Given the description of an element on the screen output the (x, y) to click on. 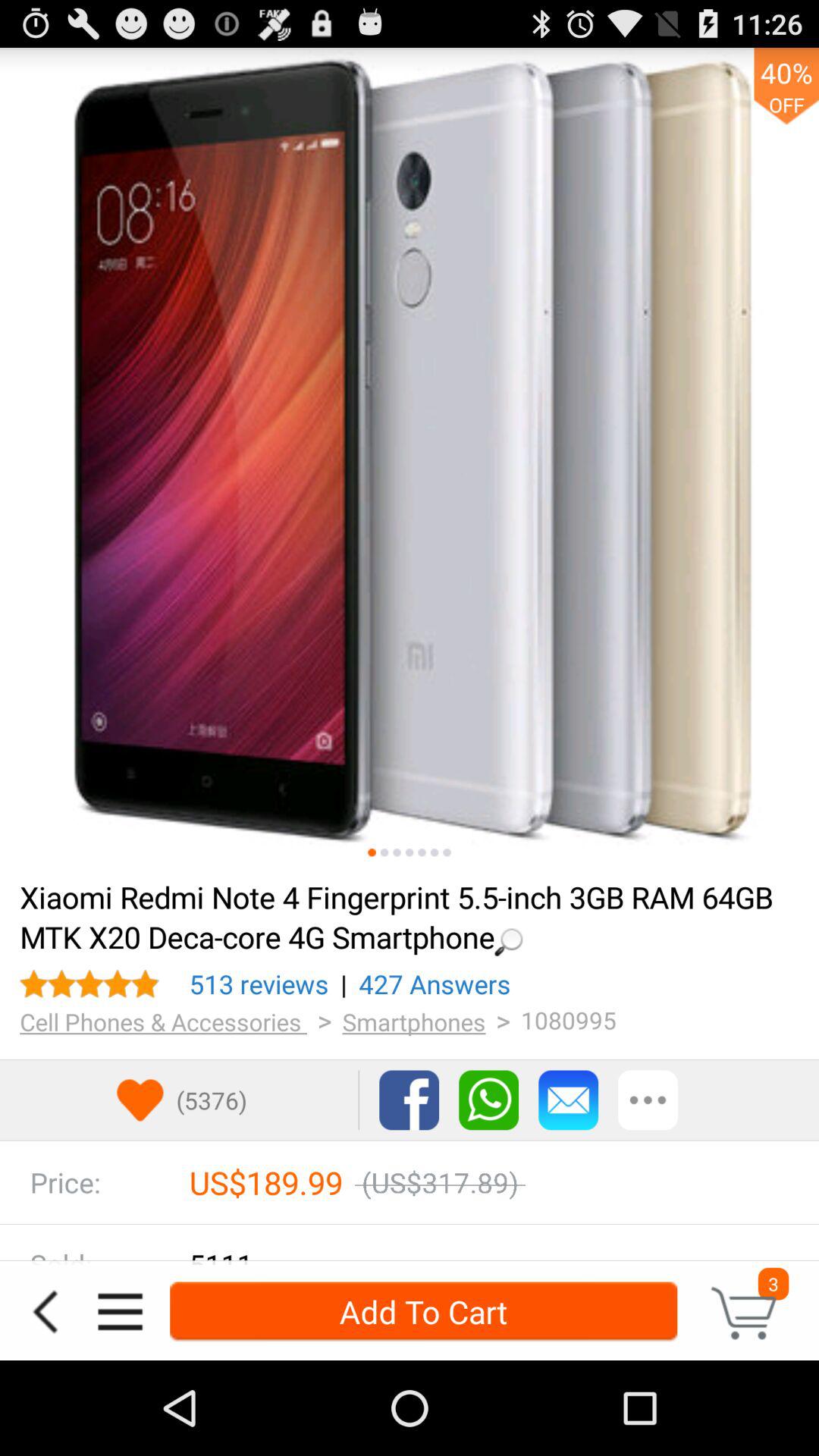
android photo or linup saying go to the next page (434, 852)
